Given the description of an element on the screen output the (x, y) to click on. 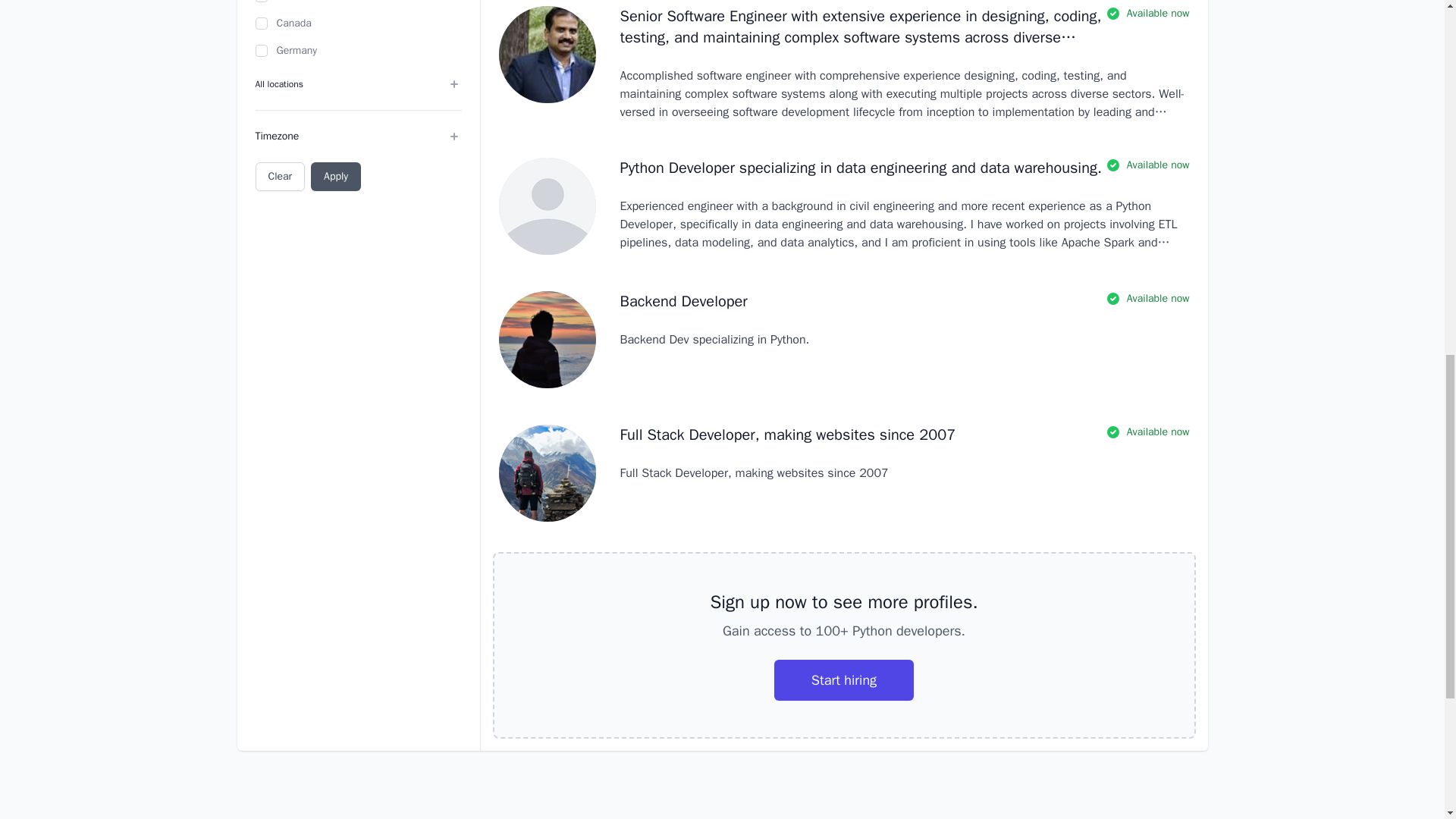
Backend Developer (684, 301)
Full Stack Developer, making websites since 2007 (788, 435)
Check Circle (1113, 165)
Canada (260, 23)
Check Circle (1113, 13)
Clear (279, 176)
Apply (336, 176)
Check Circle (1113, 432)
Apply (336, 176)
Germany (260, 50)
Check Circle (1113, 298)
Timezone (357, 136)
All locations (357, 83)
